Given the description of an element on the screen output the (x, y) to click on. 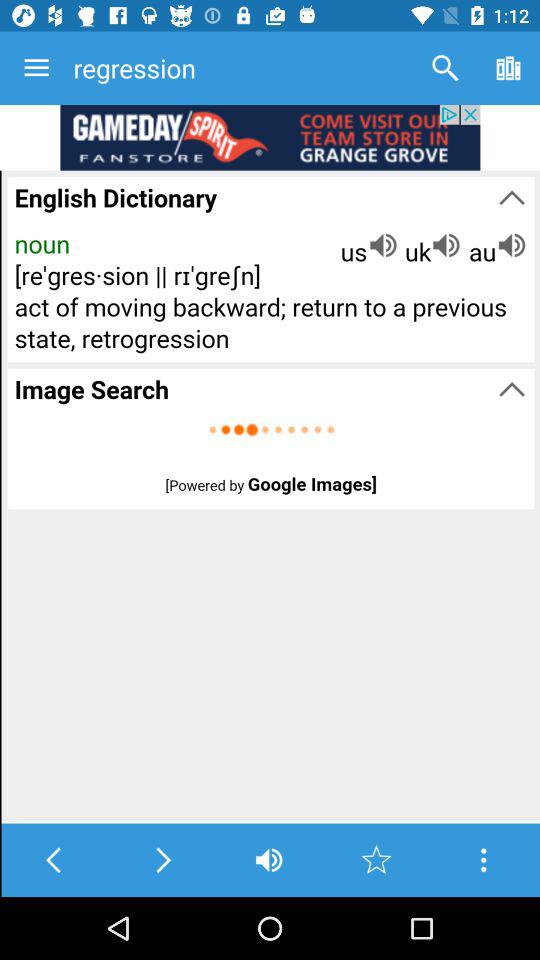
show outside advertisement (270, 137)
